Given the description of an element on the screen output the (x, y) to click on. 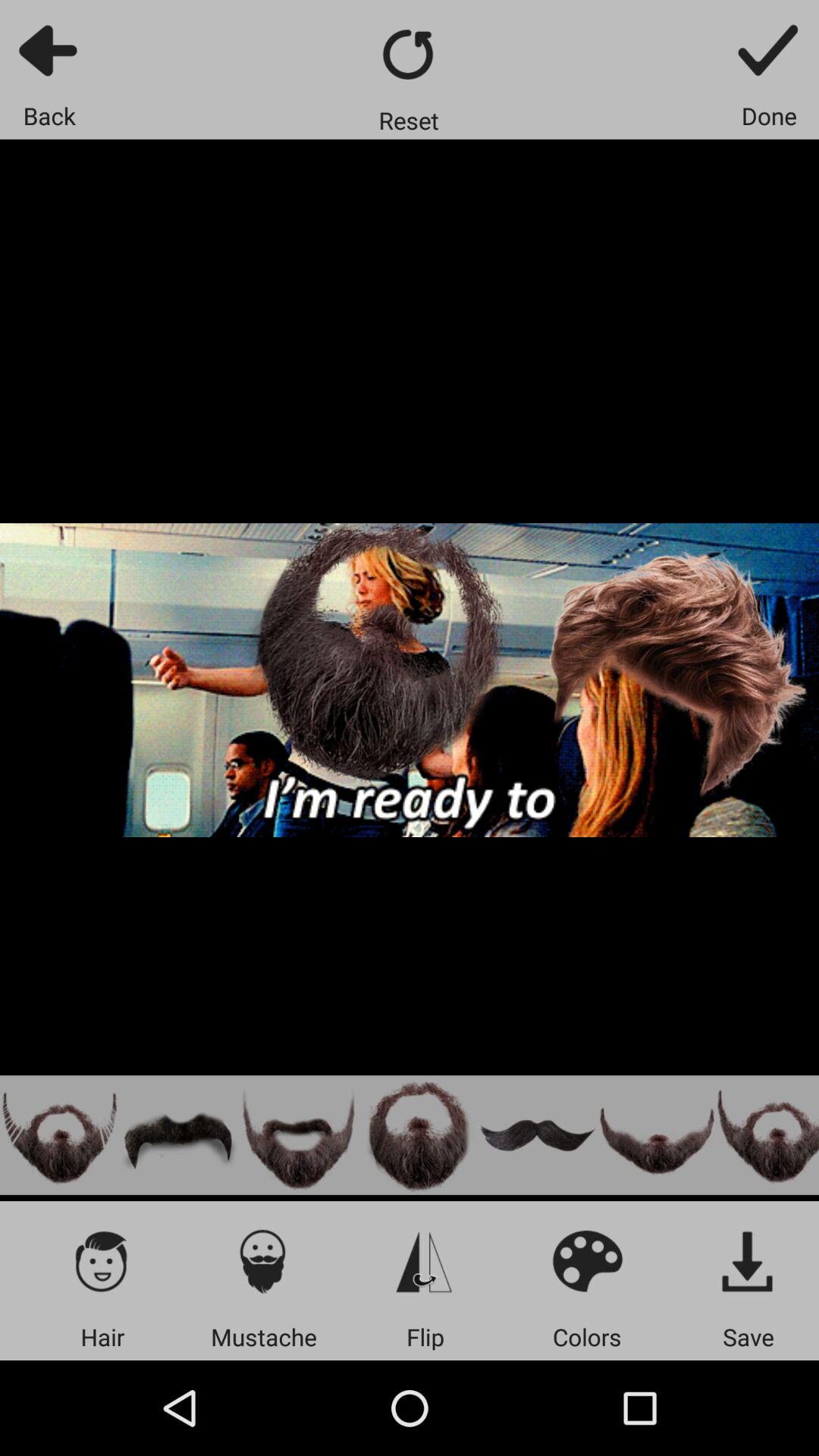
add mustache and beard filter (417, 1134)
